Given the description of an element on the screen output the (x, y) to click on. 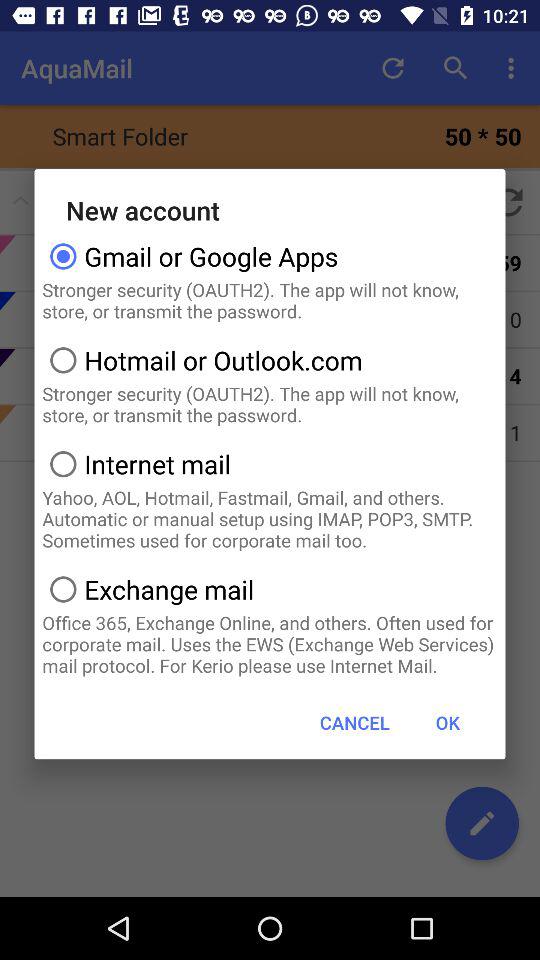
open the cancel button (354, 722)
